Given the description of an element on the screen output the (x, y) to click on. 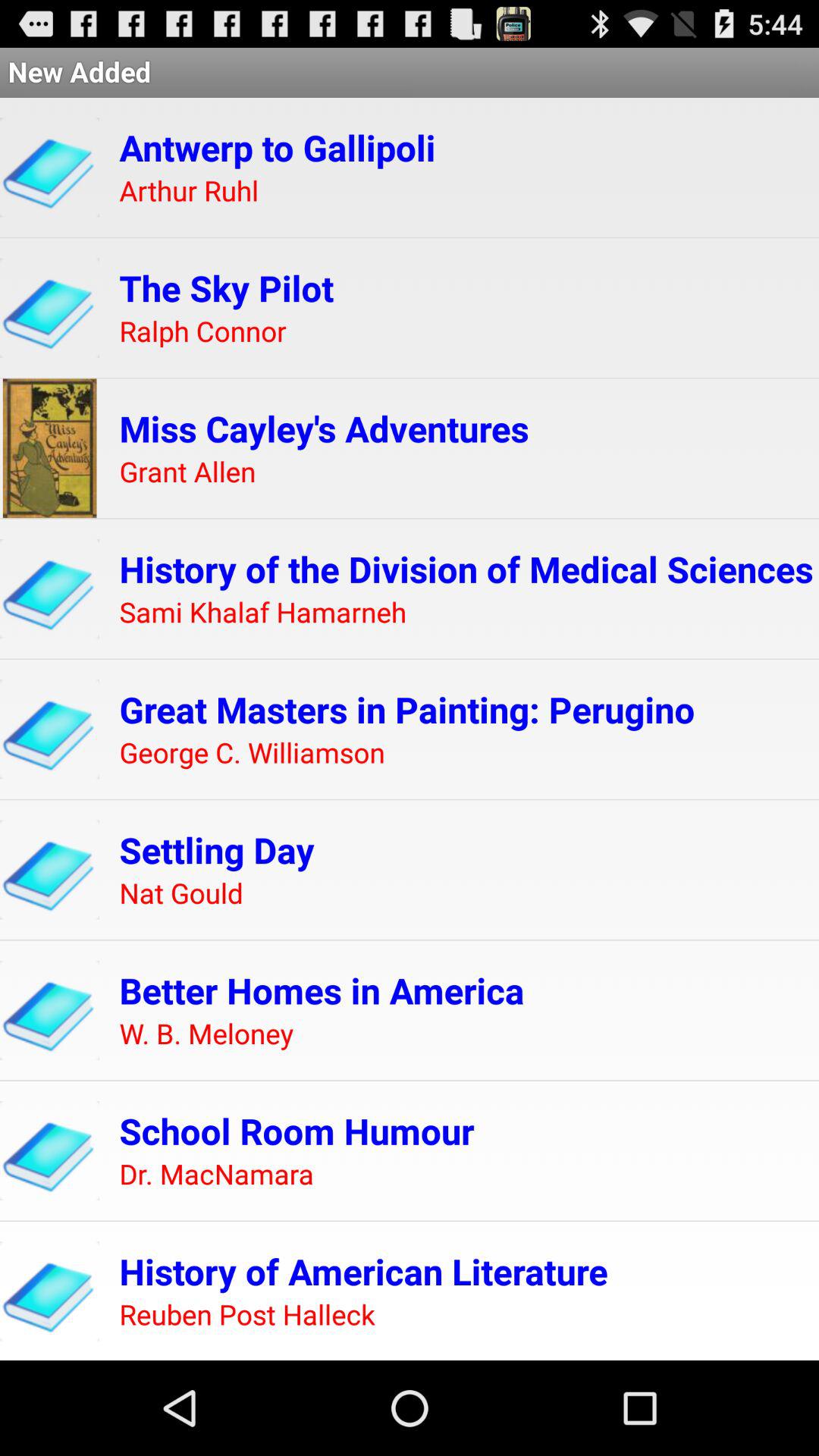
click the grant allen app (187, 472)
